Given the description of an element on the screen output the (x, y) to click on. 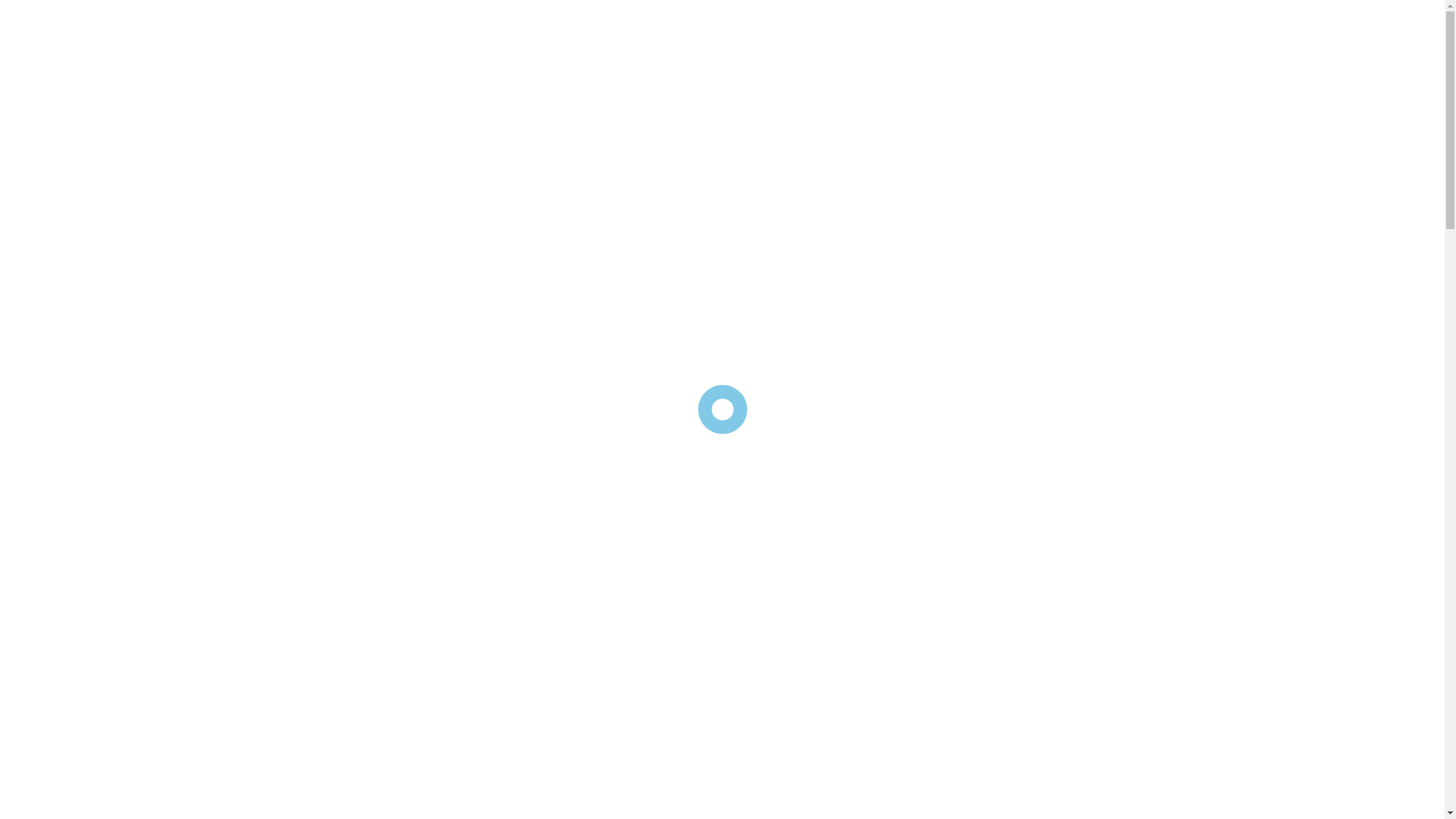
HOME Element type: text (310, 124)
Mitaka Element type: hover (381, 48)
BLOG Element type: text (538, 124)
Blog Element type: text (597, 456)
DR CLEM BONNEY Element type: text (629, 124)
FIND OUT MORE Element type: text (747, 124)
FAQS Element type: text (371, 124)
INFORMATION Element type: text (453, 124)
frequently asked questions Element type: text (511, 475)
